Given the description of an element on the screen output the (x, y) to click on. 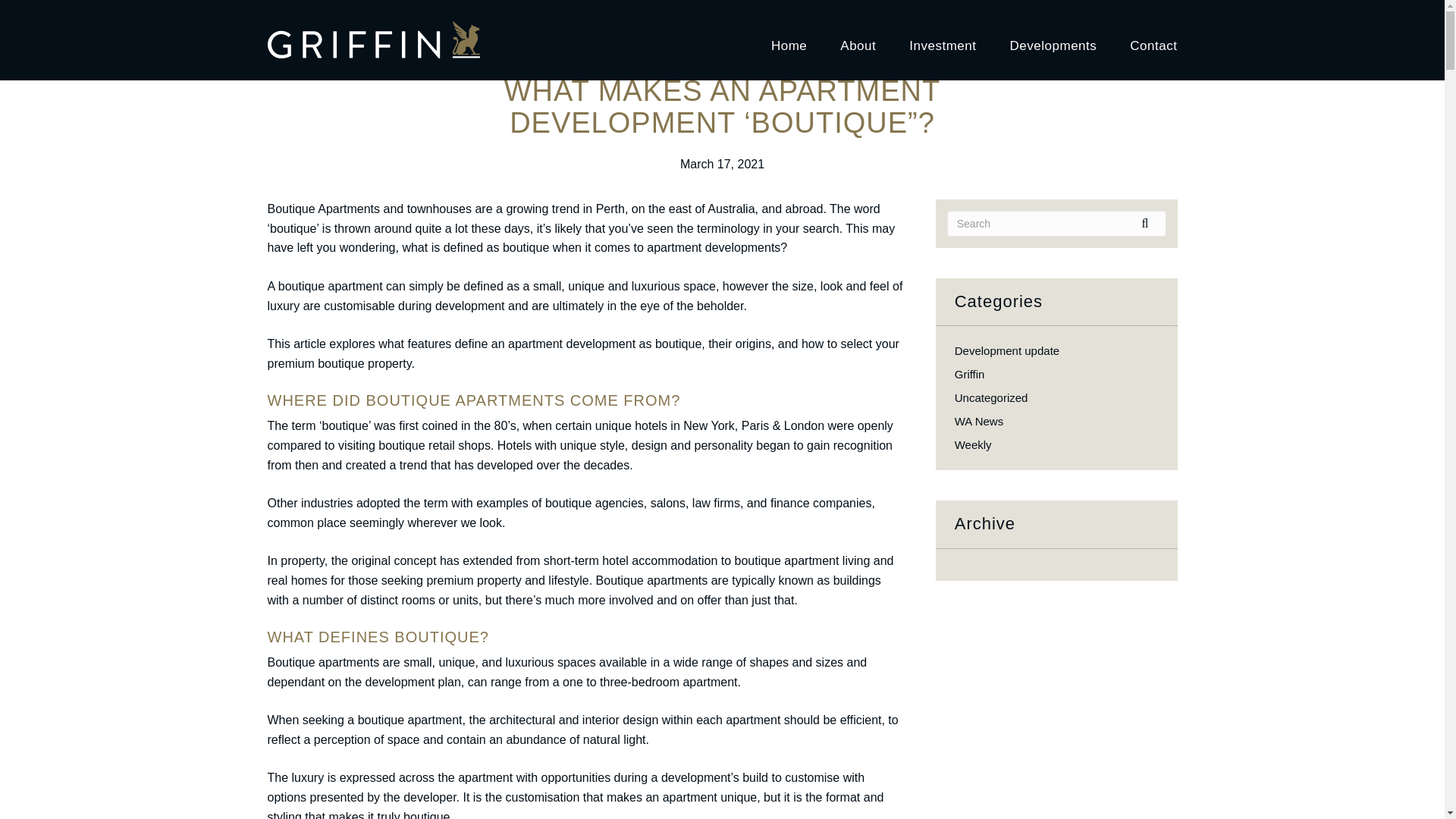
Development update (1007, 350)
Griffin (970, 373)
Weekly (973, 444)
Type and press Enter to search. (1056, 223)
Investment (941, 39)
Uncategorized (991, 397)
Search (1150, 223)
Developments (1053, 39)
Contact (1152, 39)
WA News (979, 420)
